Given the description of an element on the screen output the (x, y) to click on. 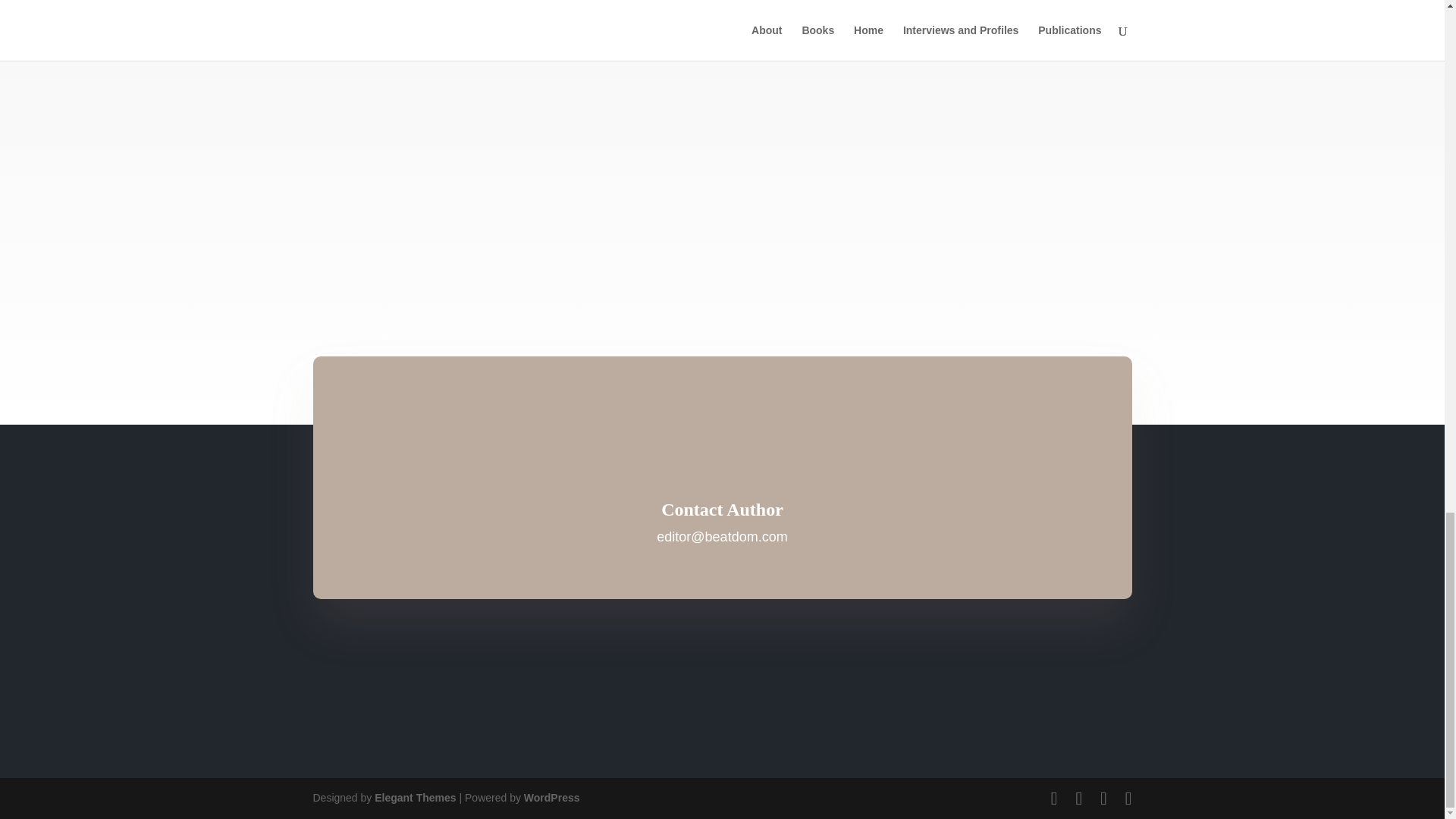
WordPress (551, 797)
Premium WordPress Themes (414, 797)
Elegant Themes (414, 797)
